Given the description of an element on the screen output the (x, y) to click on. 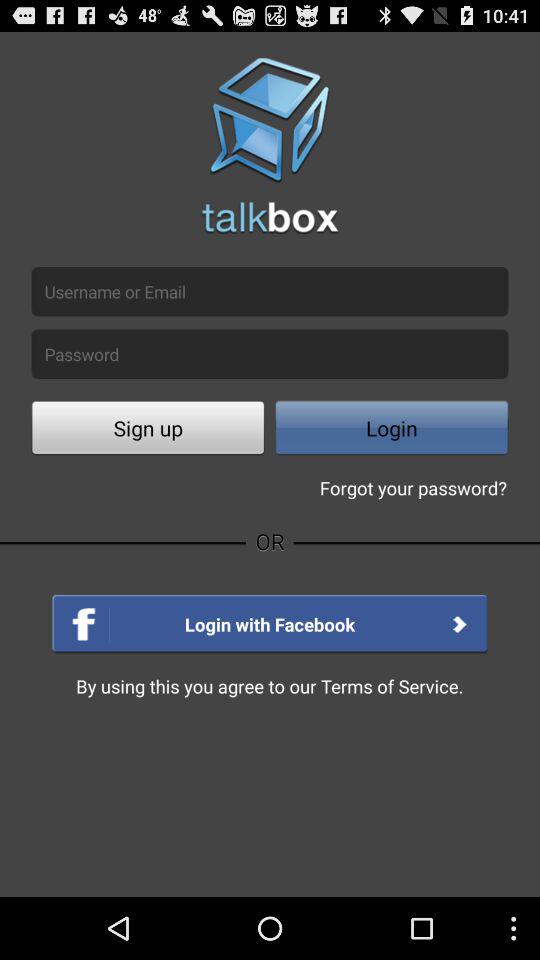
click the item above or item (148, 430)
